Given the description of an element on the screen output the (x, y) to click on. 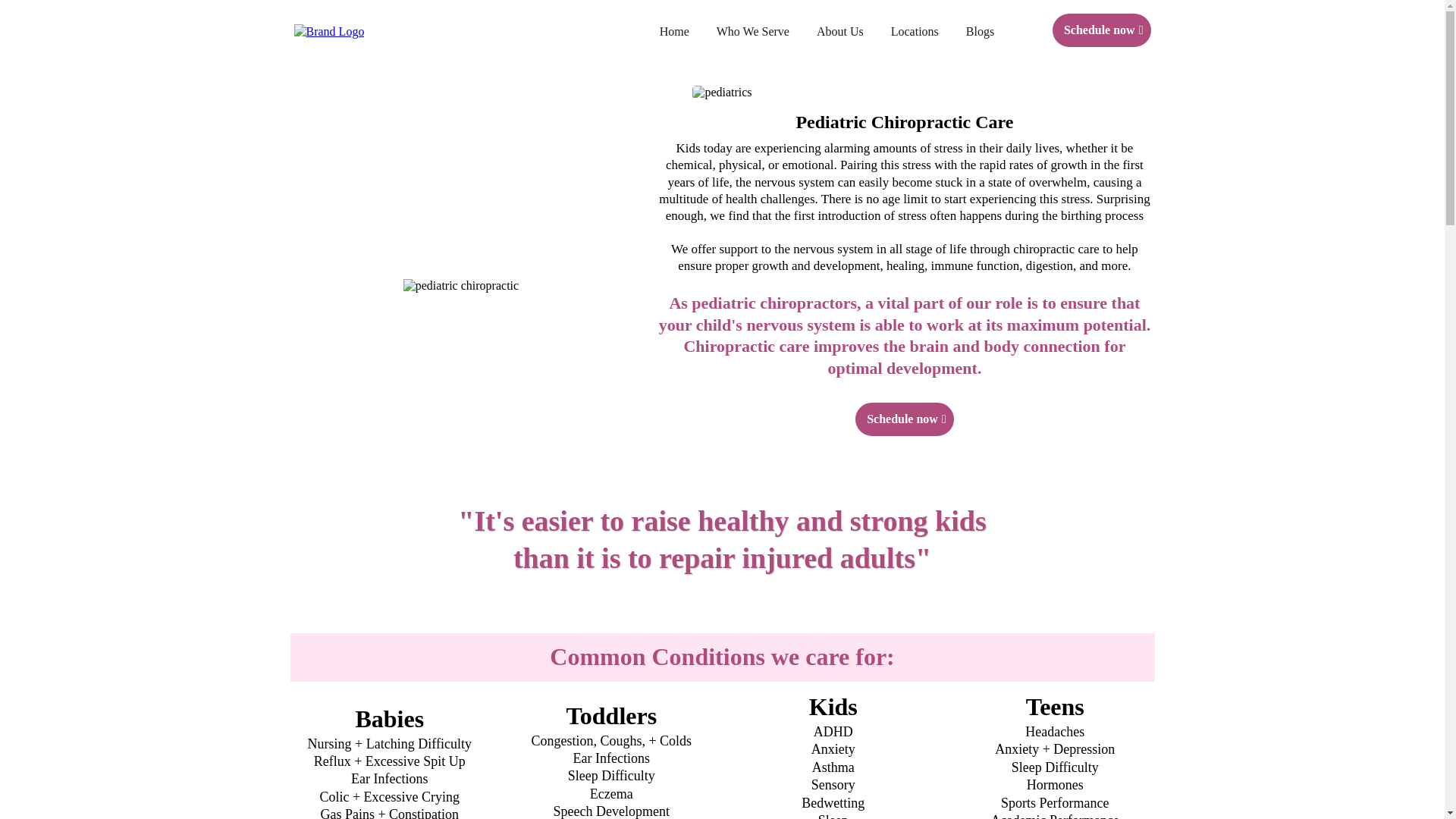
Home (674, 32)
Speech Development (611, 811)
Schedule now (904, 419)
Locations (914, 32)
About Us (840, 32)
Ear Infections (611, 758)
ADHD (833, 731)
Who We Serve (753, 32)
Ear Infections (389, 778)
Blogs (979, 32)
